Given the description of an element on the screen output the (x, y) to click on. 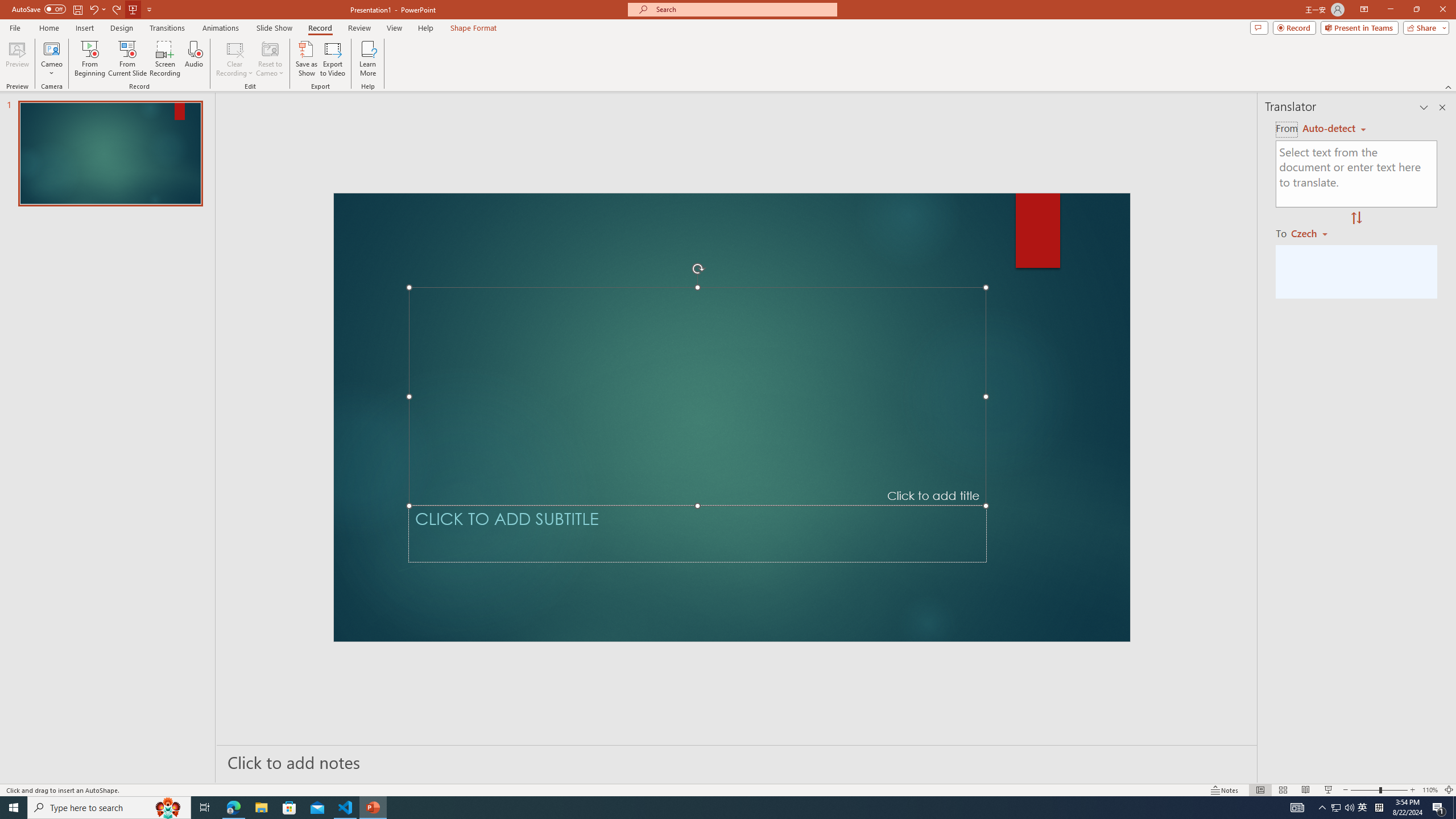
Zoom 110% (1430, 790)
